Given the description of an element on the screen output the (x, y) to click on. 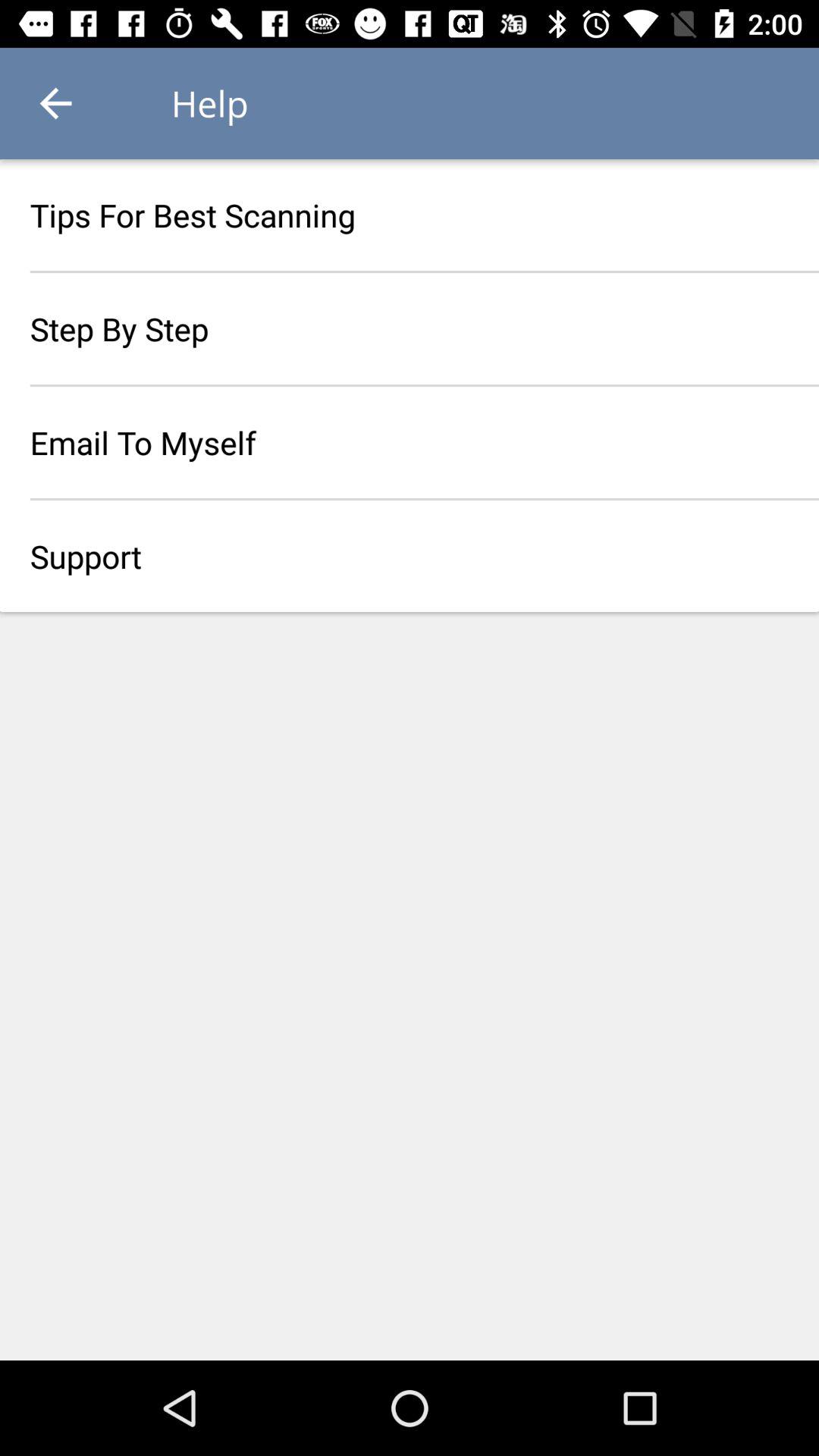
select the item above step by step (409, 214)
